Given the description of an element on the screen output the (x, y) to click on. 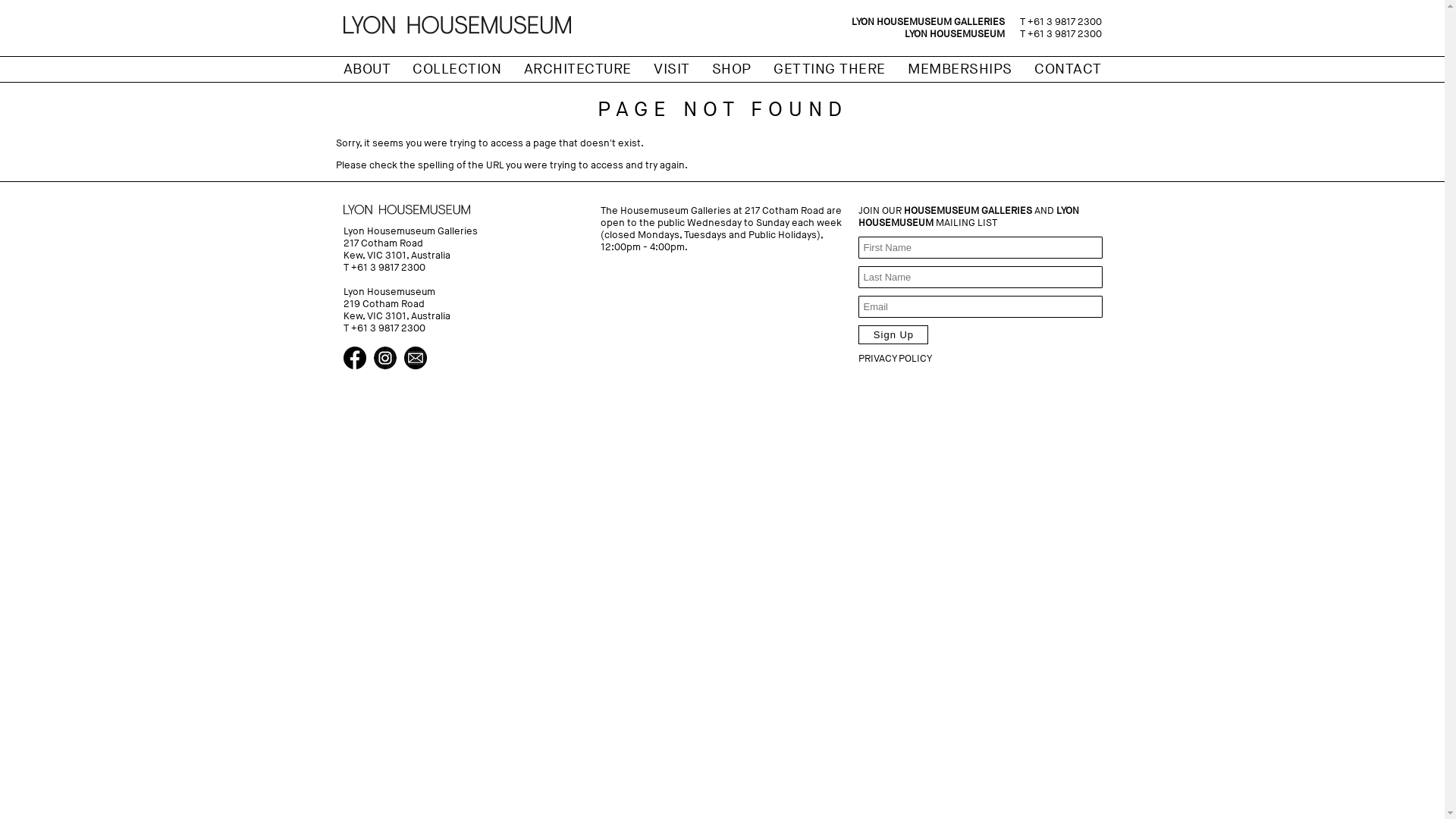
CONTACT Element type: text (1067, 68)
COLLECTION Element type: text (456, 68)
VISIT Element type: text (671, 68)
GETTING THERE Element type: text (829, 68)
ARCHITECTURE Element type: text (577, 68)
SHOP Element type: text (731, 68)
PRIVACY POLICY Element type: text (894, 358)
ABOUT Element type: text (366, 68)
Sign Up Element type: text (893, 334)
MEMBERSHIPS Element type: text (959, 68)
